Given the description of an element on the screen output the (x, y) to click on. 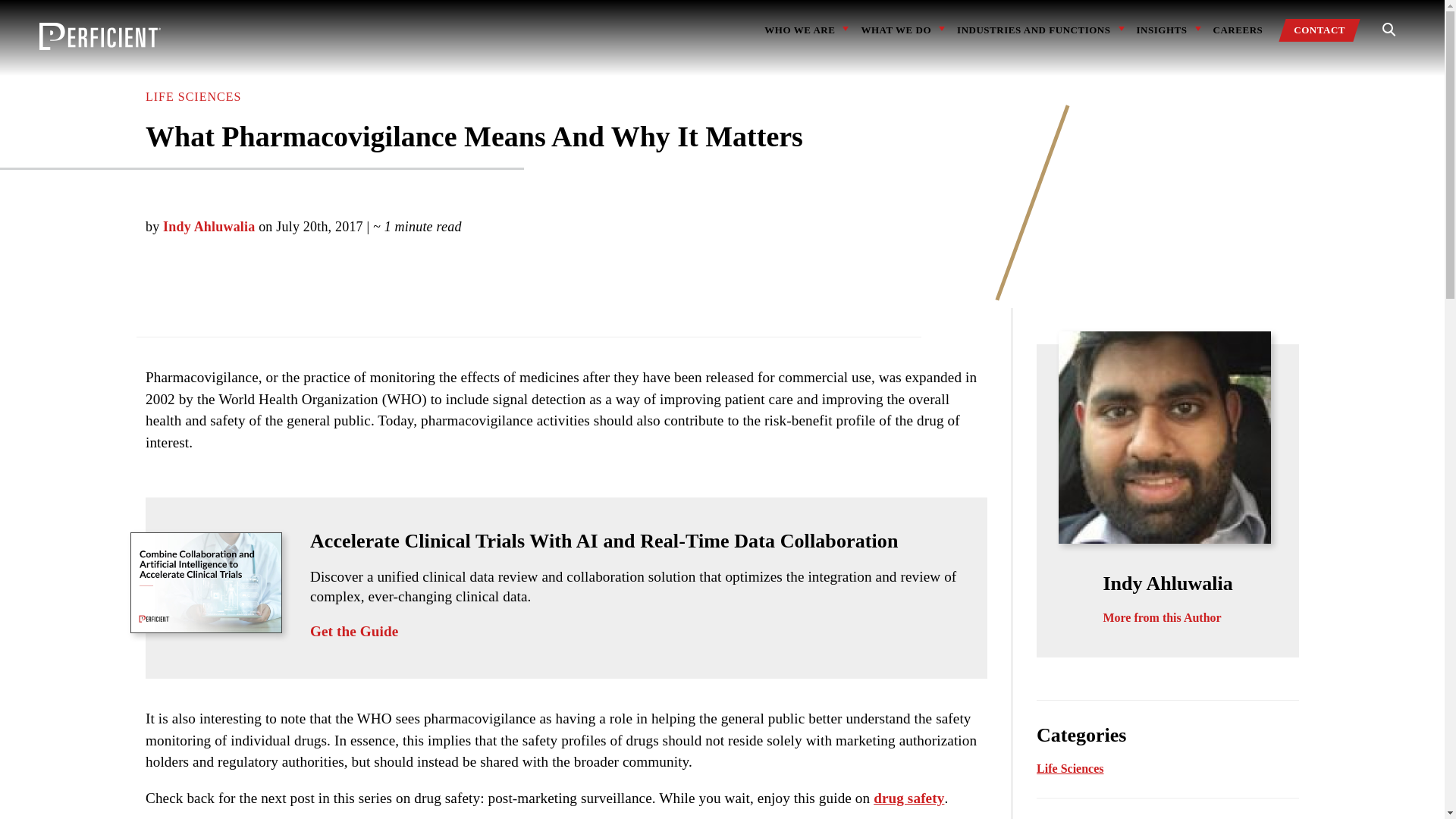
Indy Ahluwalia (208, 226)
LIFE SCIENCES (193, 96)
CAREERS (1237, 29)
INSIGHTS (1162, 29)
CONTACT (1319, 29)
Posts by Indy Ahluwalia (208, 226)
WHAT WE DO (895, 29)
More from this Author (1161, 617)
